Given the description of an element on the screen output the (x, y) to click on. 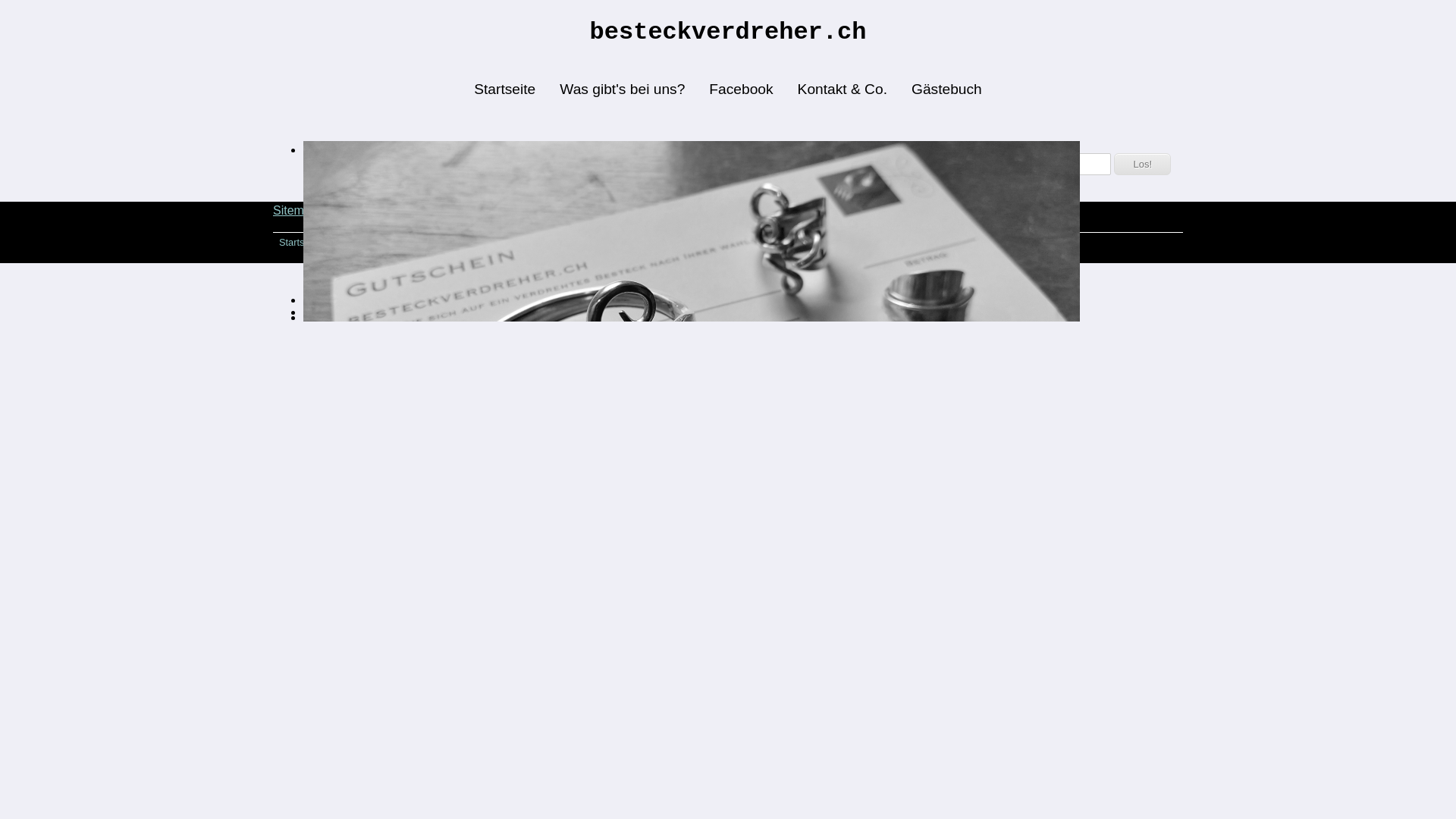
Kontakt & Co. Element type: text (842, 89)
besteckverdreher.ch Element type: text (727, 31)
Facebook Element type: text (740, 89)
Startseite Element type: text (504, 89)
Facebook Element type: text (448, 241)
Sitemap Element type: text (295, 209)
Startseite Element type: text (299, 241)
Kontakt & Co. Element type: text (512, 241)
Los! Element type: text (1141, 164)
Was gibt's bei uns? Element type: text (373, 241)
Was gibt's bei uns? Element type: text (621, 89)
